Given the description of an element on the screen output the (x, y) to click on. 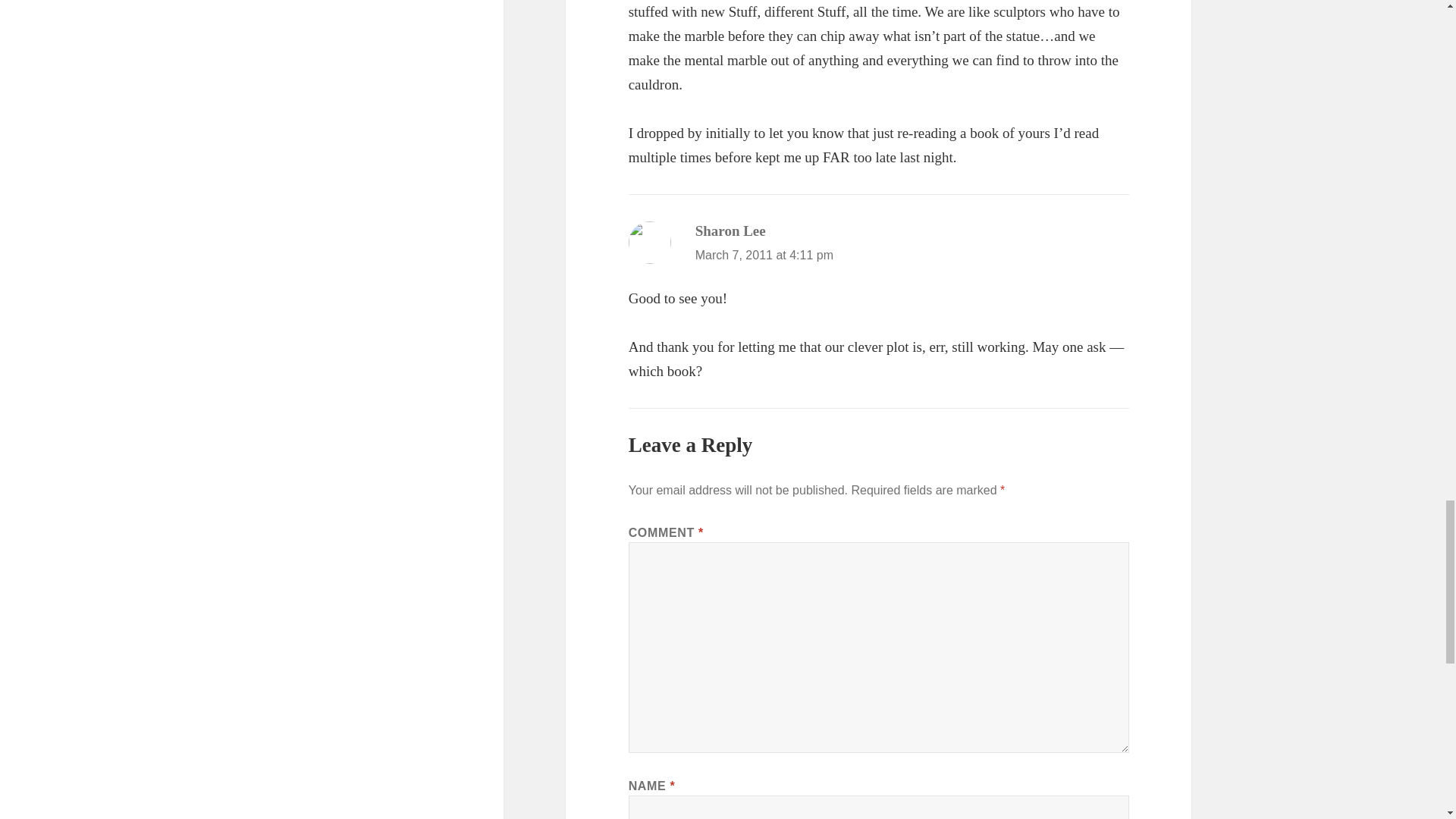
March 7, 2011 at 4:11 pm (763, 254)
